Given the description of an element on the screen output the (x, y) to click on. 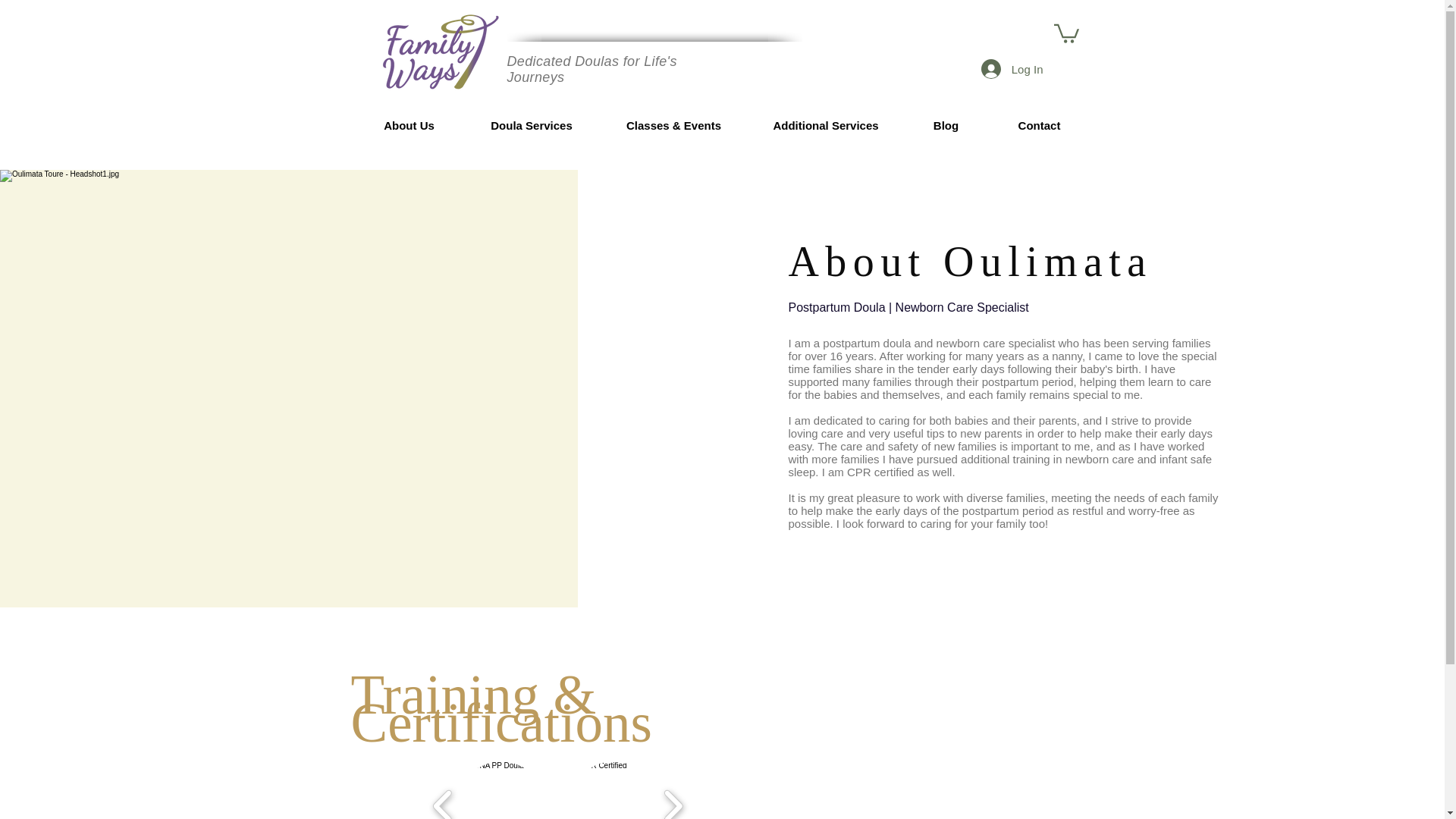
Additional Services (825, 125)
Dedicated Doulas for Life's Journeys (591, 69)
2016-03-21 New Logo.png (439, 50)
Blog (946, 125)
Contact (1039, 125)
About Us (409, 125)
Doula Services (531, 125)
Log In (1012, 68)
